Given the description of an element on the screen output the (x, y) to click on. 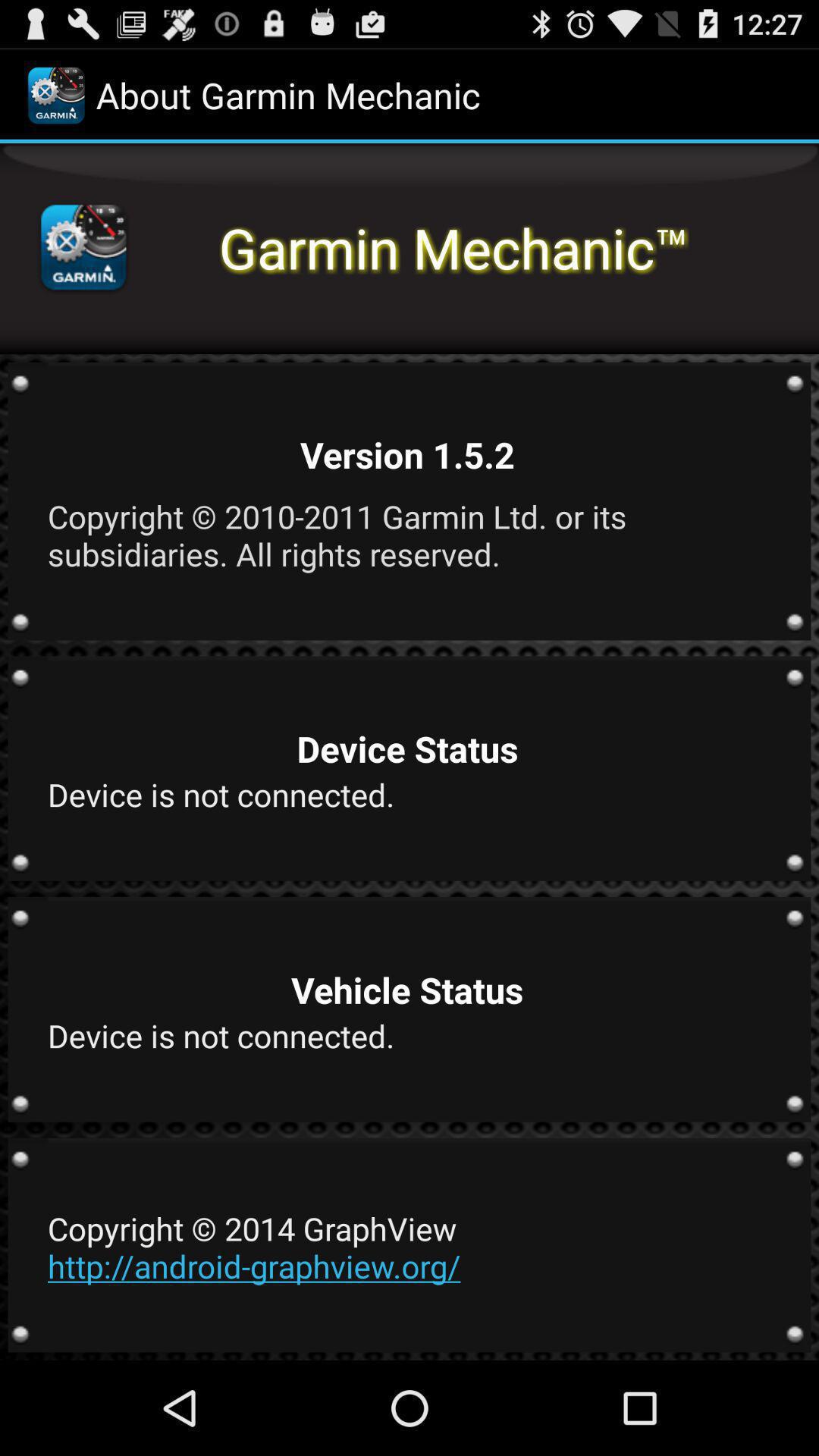
press the copyright 2014 graphview (407, 1246)
